Given the description of an element on the screen output the (x, y) to click on. 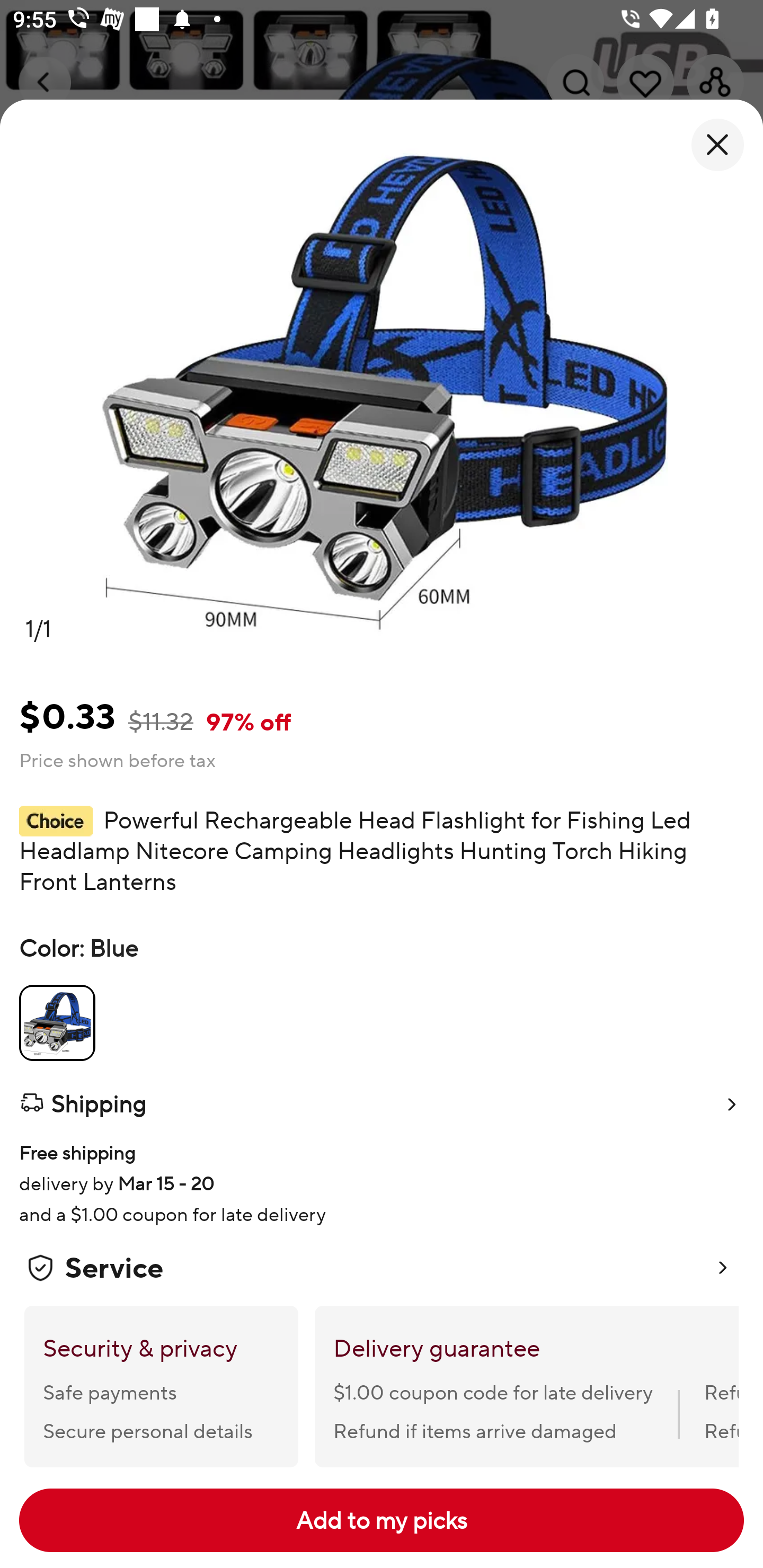
close  (717, 144)
Add to my picks (381, 1520)
